Given the description of an element on the screen output the (x, y) to click on. 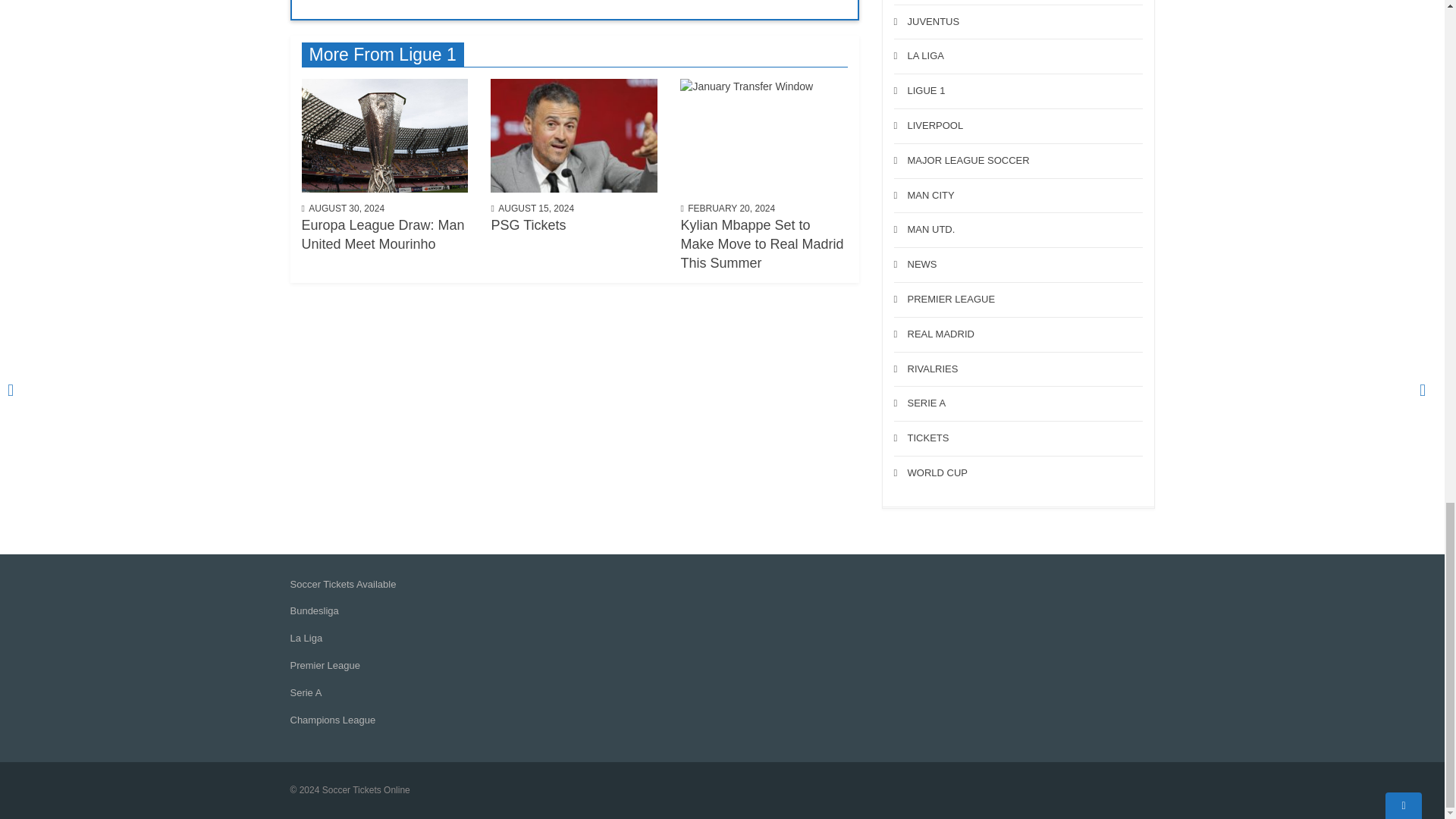
Europa League Draw: Man United Meet Mourinho (384, 134)
PSG Tickets (574, 134)
Kylian Mbappe Set to Make Move to Real Madrid This Summer (763, 134)
